Given the description of an element on the screen output the (x, y) to click on. 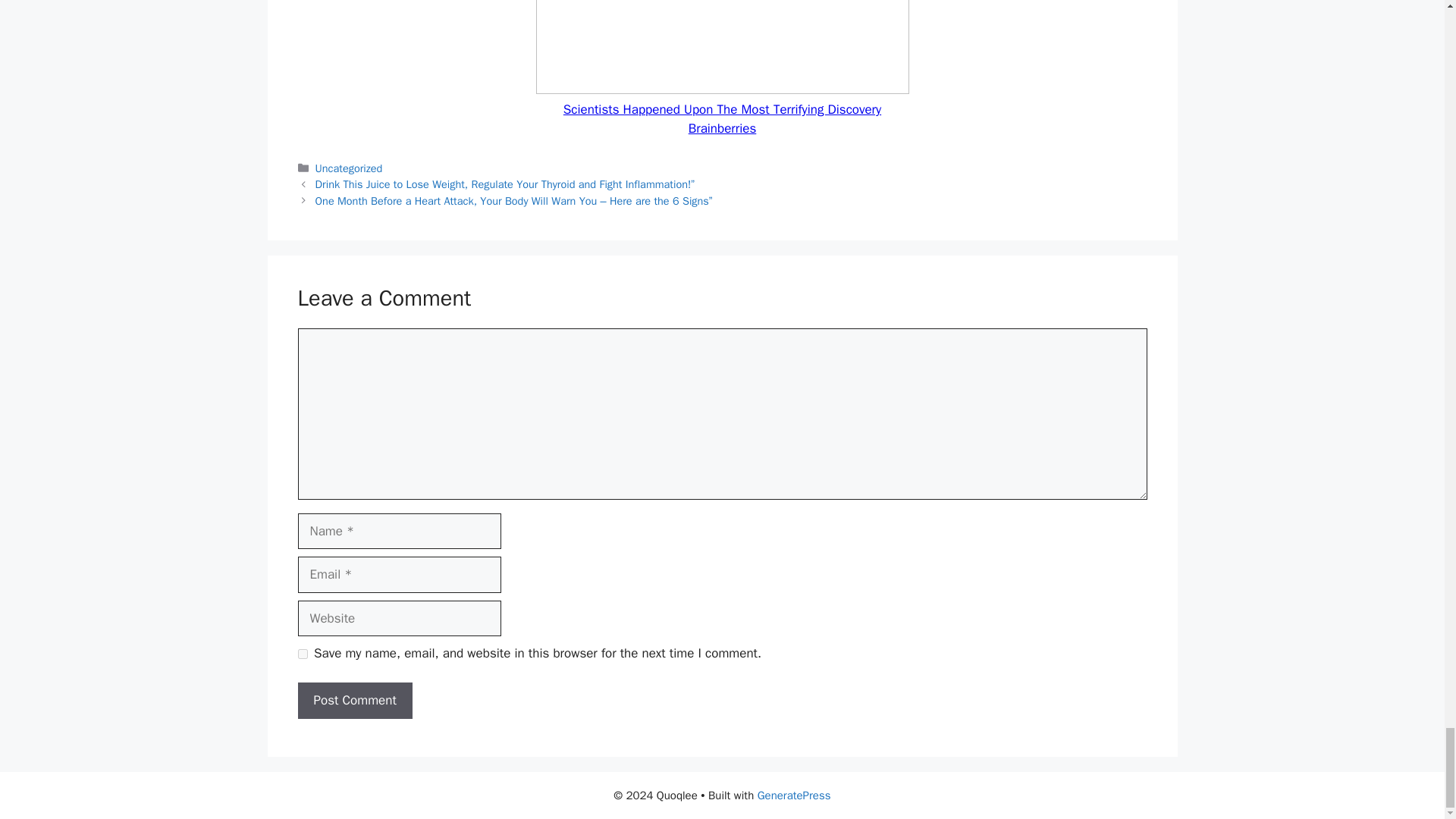
Post Comment (354, 700)
yes (302, 654)
Uncategorized (348, 168)
Post Comment (354, 700)
GeneratePress (794, 795)
